Given the description of an element on the screen output the (x, y) to click on. 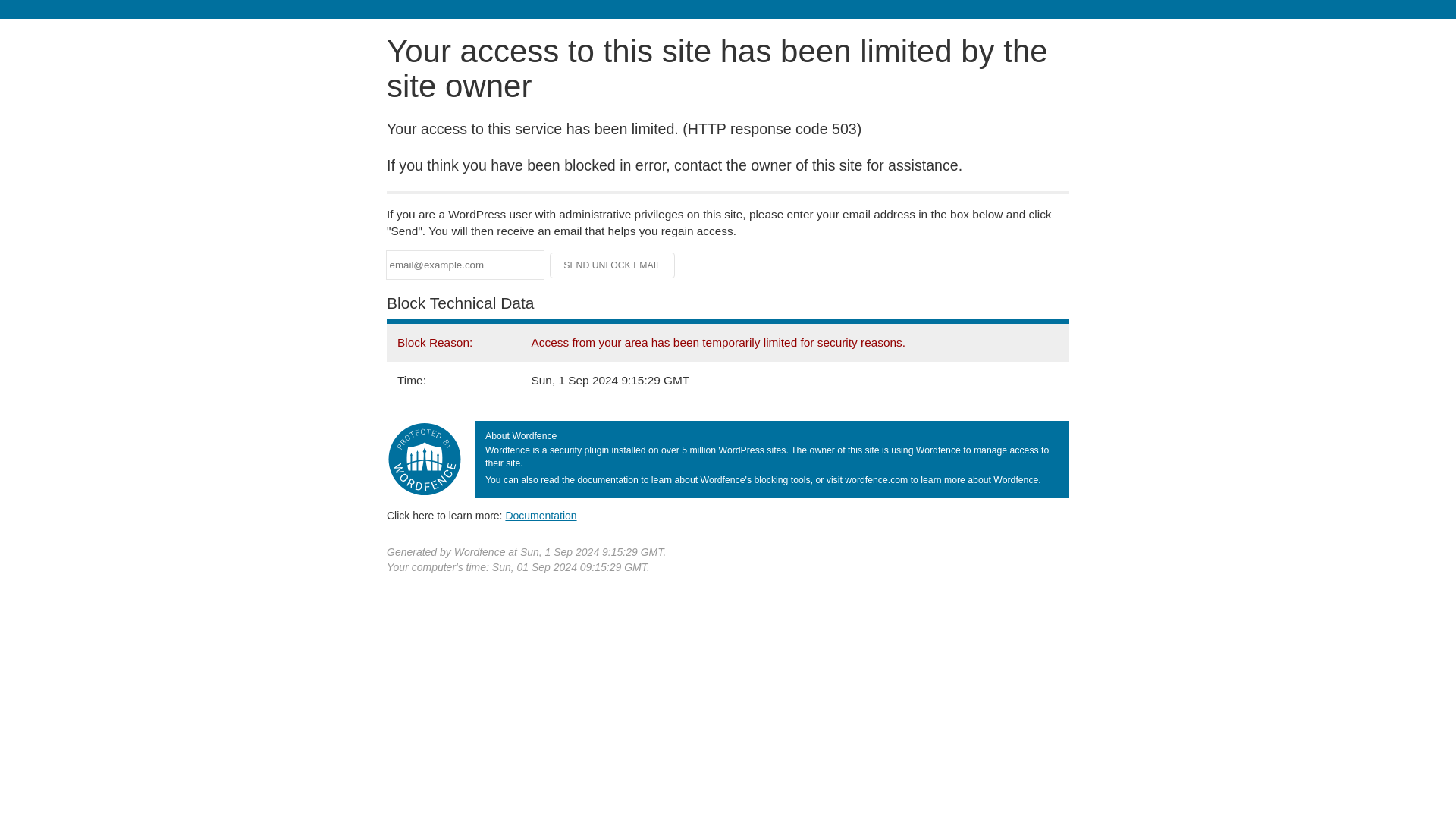
Documentation (540, 515)
Send Unlock Email (612, 265)
Send Unlock Email (612, 265)
